Given the description of an element on the screen output the (x, y) to click on. 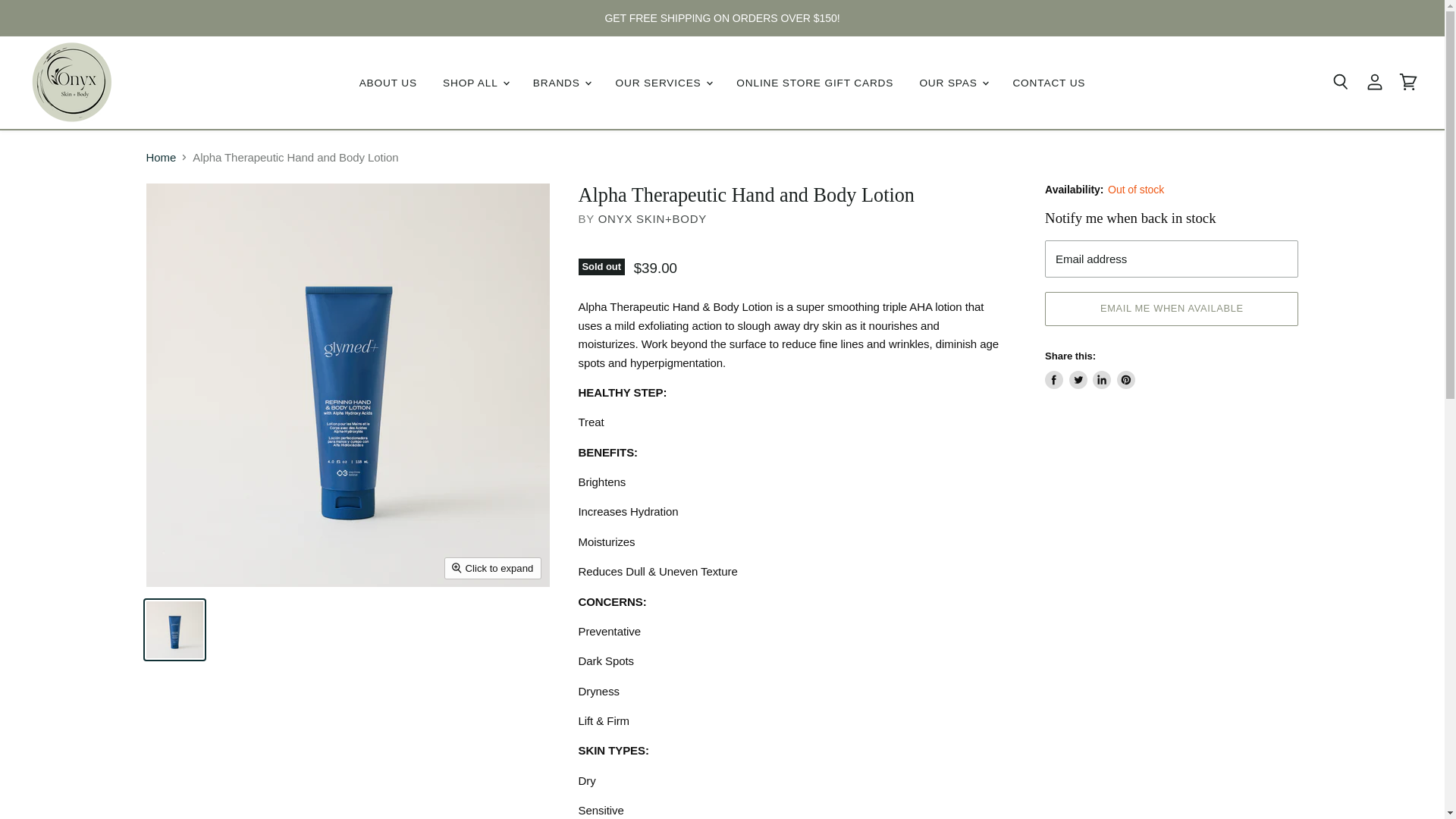
ABOUT US (387, 82)
OUR SERVICES (663, 82)
SHOP ALL (474, 82)
BRANDS (561, 82)
